Given the description of an element on the screen output the (x, y) to click on. 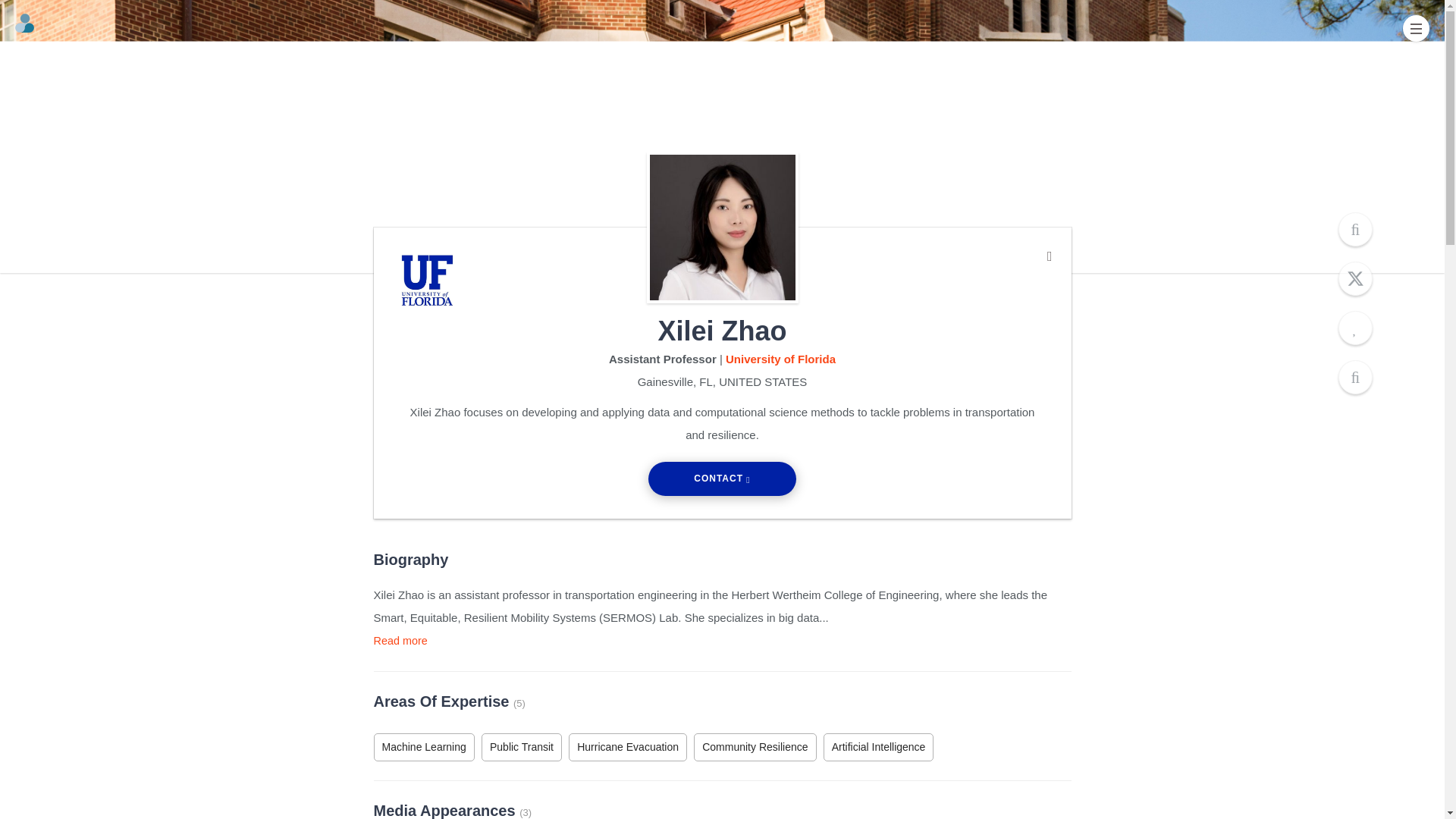
Read more (399, 640)
University of Florida (780, 358)
CONTACT (721, 478)
